Given the description of an element on the screen output the (x, y) to click on. 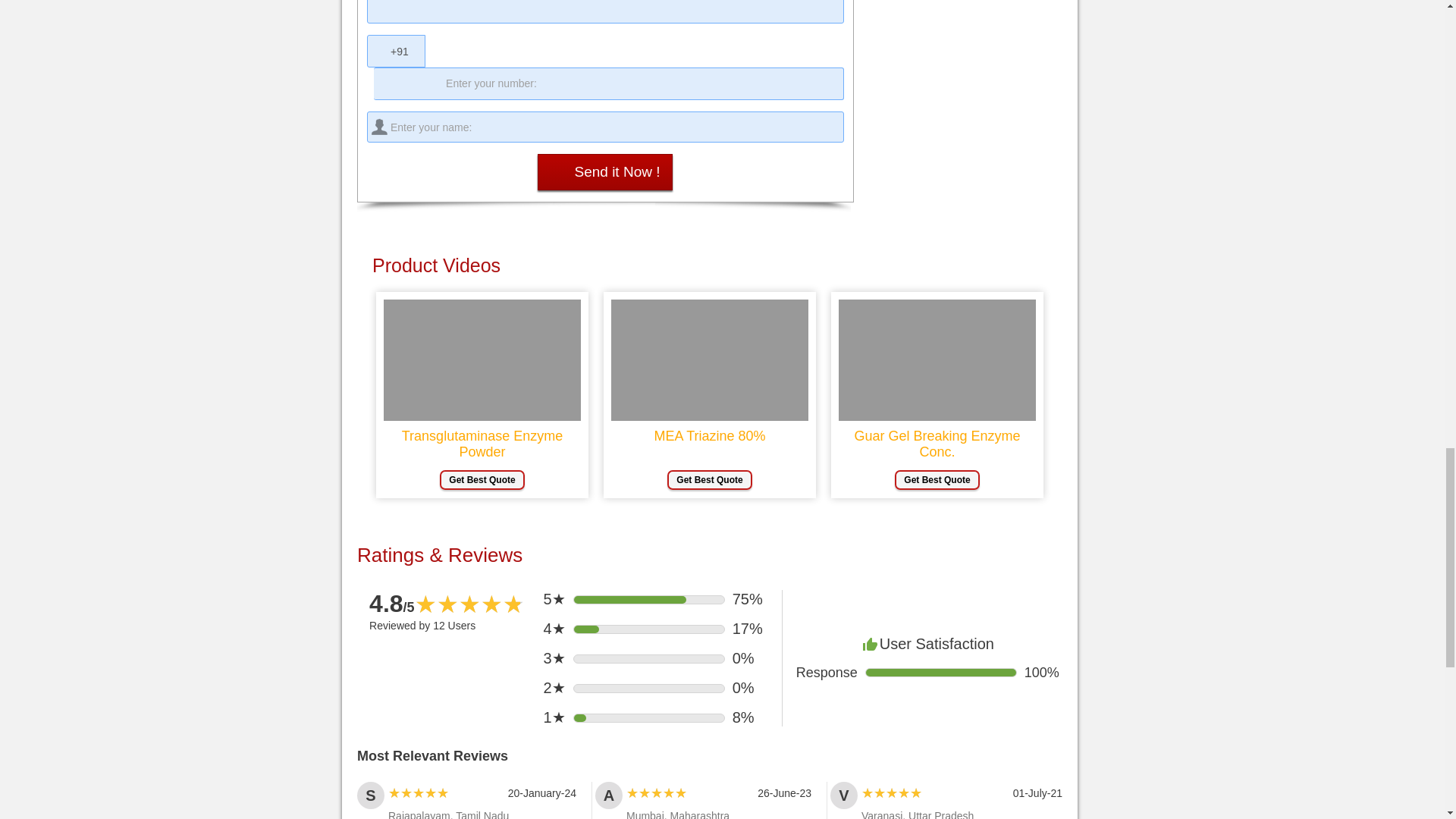
Product Videos (709, 265)
4.8 out of 5 Votes (391, 603)
Enter your name: (605, 126)
Send it Now ! (604, 171)
Enter your number: (609, 83)
Send it Now ! (604, 171)
